Given the description of an element on the screen output the (x, y) to click on. 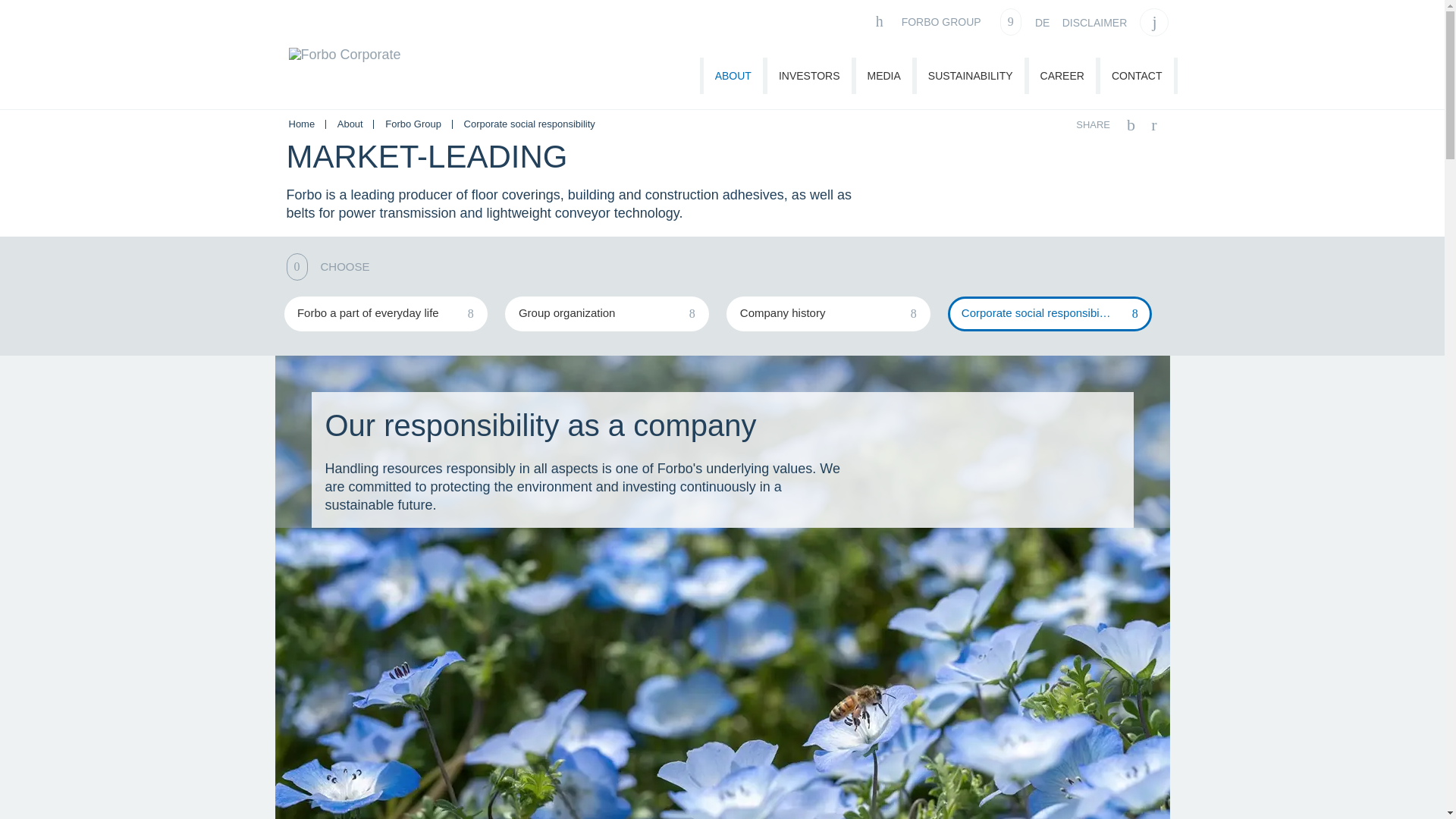
Home (302, 123)
Search (1154, 21)
SUSTAINABILITY (970, 75)
Forbo Corporate (344, 73)
Division (946, 22)
CAREER (1062, 75)
Investors (809, 75)
ABOUT (732, 75)
CONTACT (1136, 75)
Forbo Corporate (344, 70)
FORBO GROUP (946, 22)
INVESTORS (809, 75)
MEDIA (884, 75)
About (732, 75)
DISCLAIMER (1094, 23)
